Given the description of an element on the screen output the (x, y) to click on. 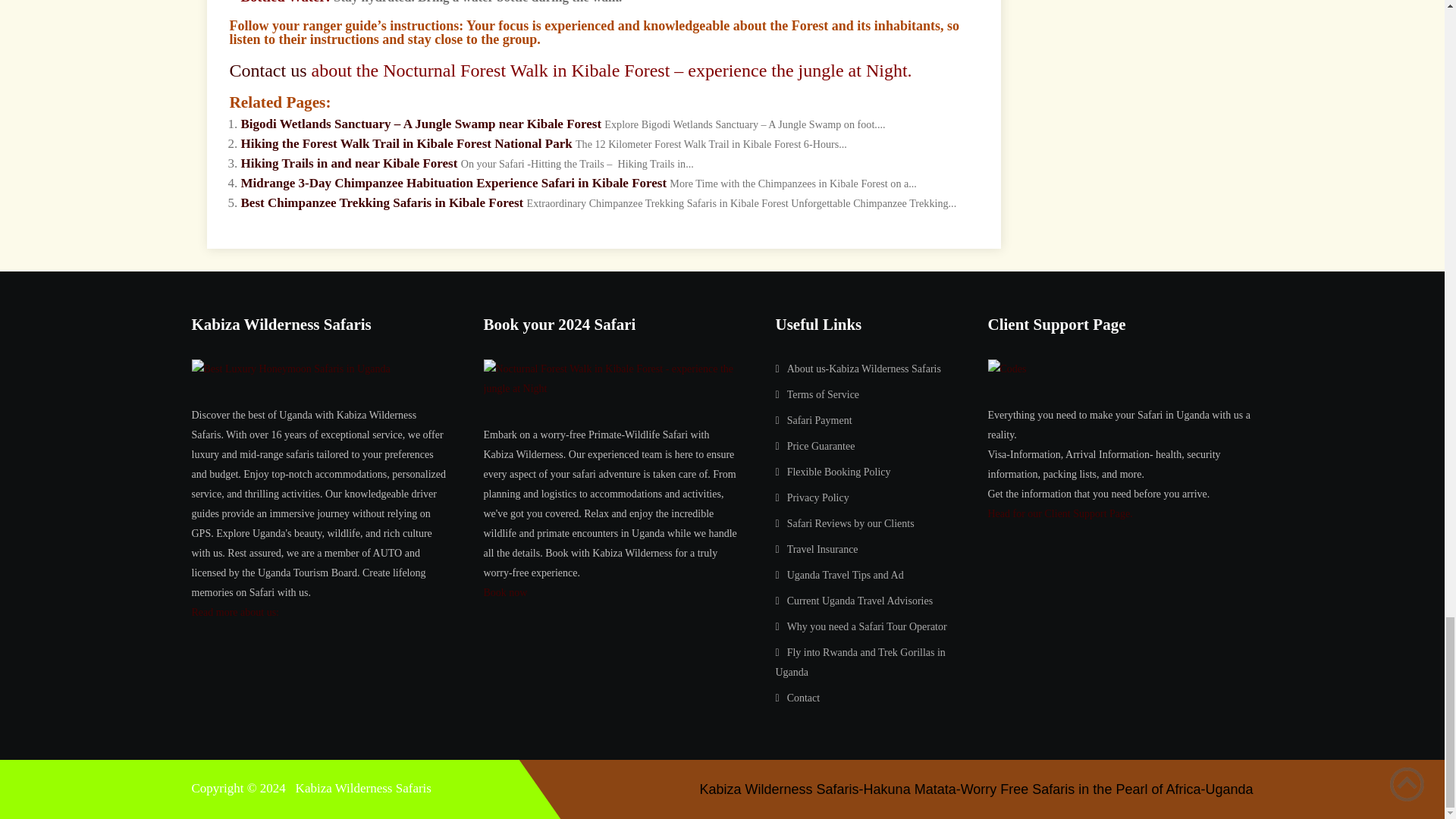
Best Luxury Honeymoon Safaris in Uganda (290, 369)
Safari payment Options (819, 420)
Terms of Service (823, 394)
Hiking Trails in and near Kibale Forest (349, 163)
Codes (1006, 369)
Hiking the Forest Walk Trail in Kibale Forest National Park (406, 143)
Hiking the Forest Walk Trail in Kibale Forest National Park (406, 143)
Contact us (266, 70)
